Given the description of an element on the screen output the (x, y) to click on. 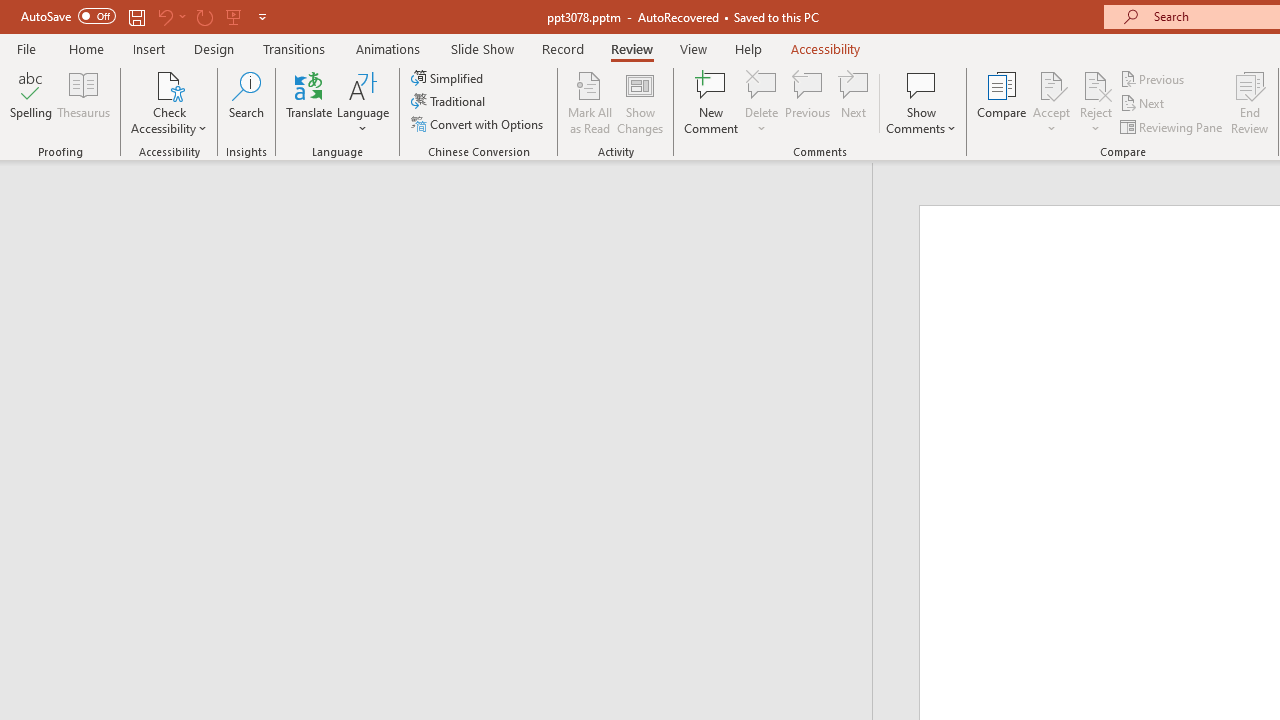
Outline (445, 202)
Show Comments (921, 84)
Next (1144, 103)
Simplified (449, 78)
Delete (762, 84)
Language (363, 102)
